Given the description of an element on the screen output the (x, y) to click on. 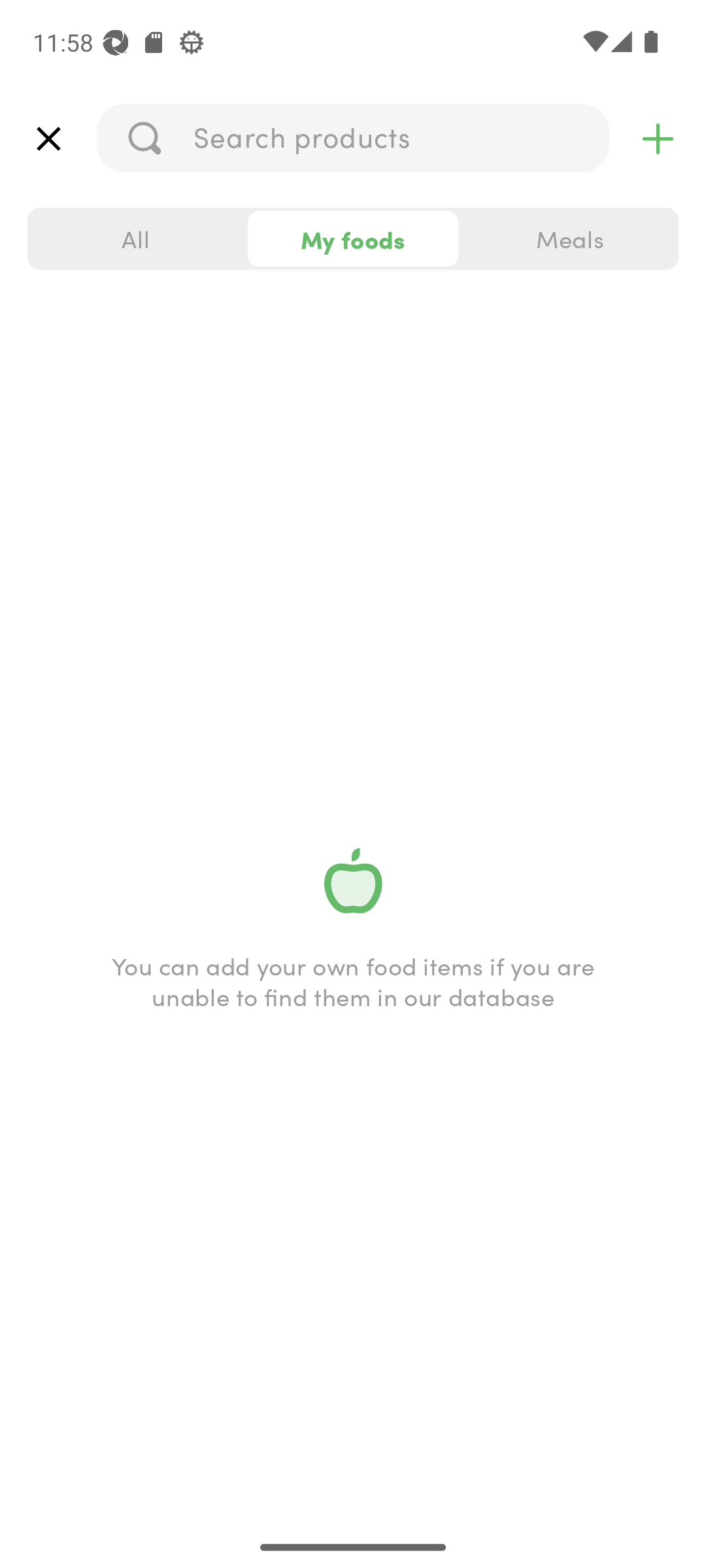
top_left_action (48, 138)
top_right_action (658, 138)
All (136, 238)
Meals (569, 238)
